Given the description of an element on the screen output the (x, y) to click on. 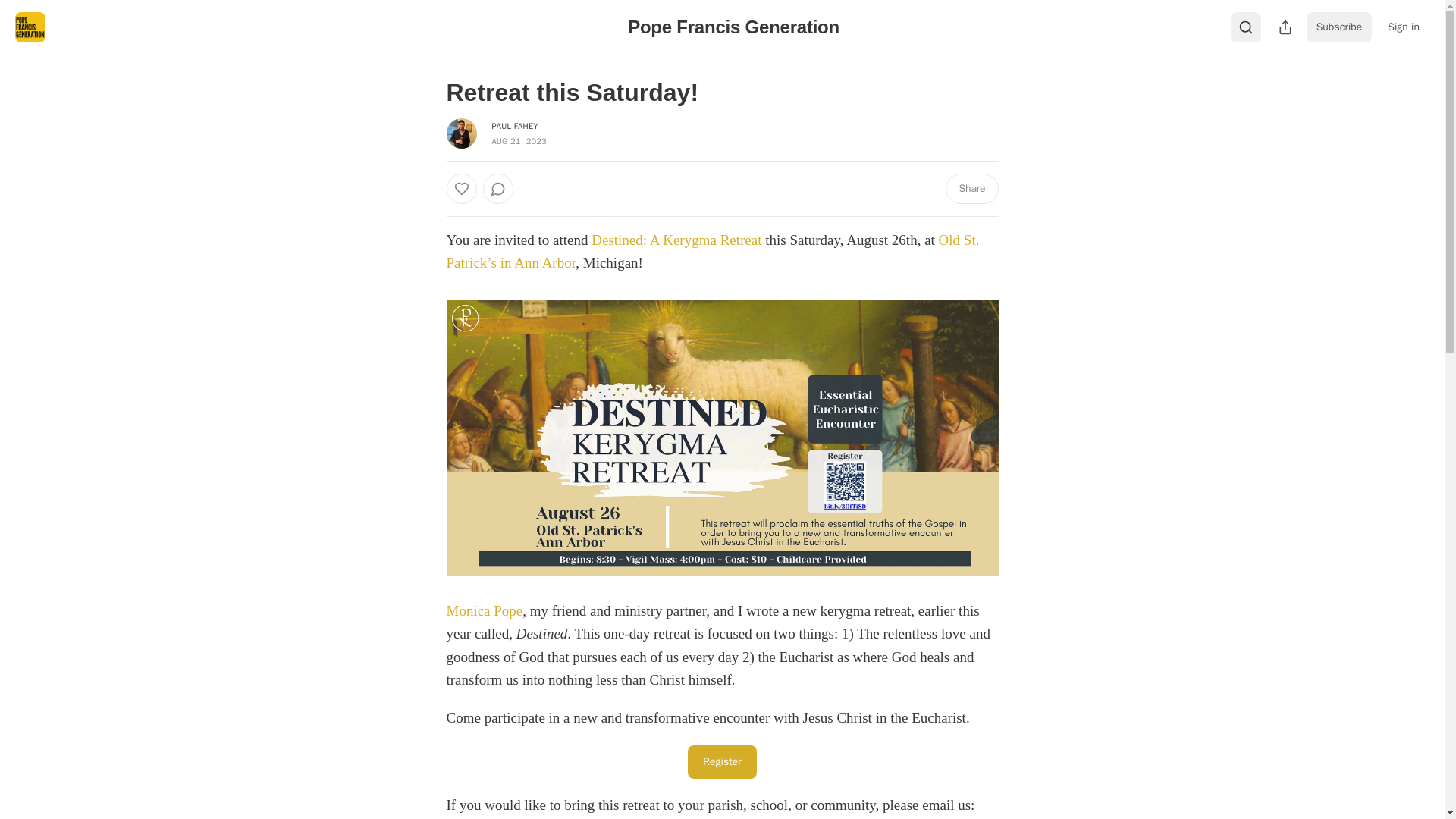
Destined: A Kerygma Retreat (676, 239)
Register (721, 761)
Share (970, 188)
Subscribe (1339, 27)
Monica Pope (483, 610)
Sign in (1403, 27)
PAUL FAHEY (514, 125)
Pope Francis Generation (733, 26)
